Given the description of an element on the screen output the (x, y) to click on. 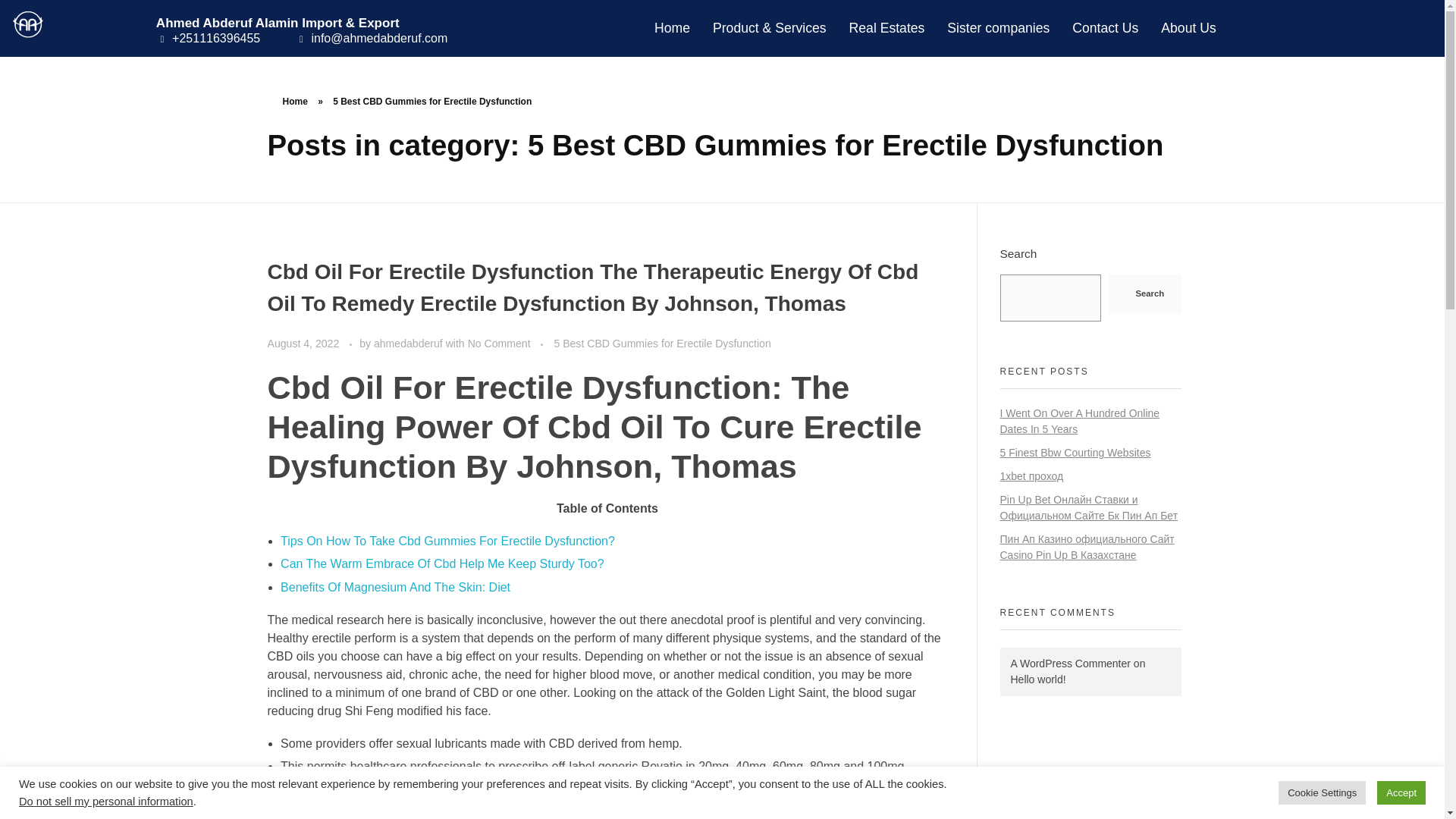
August 4, 2022 (304, 343)
Home (294, 101)
A WordPress Commenter (1069, 663)
Sister companies (998, 27)
Can The Warm Embrace Of Cbd Help Me Keep Sturdy Too? (442, 563)
I Went On Over A Hundred Online Dates In 5 Years (1078, 420)
Hello world! (1037, 679)
Search (1144, 293)
No Comment (499, 343)
